Given the description of an element on the screen output the (x, y) to click on. 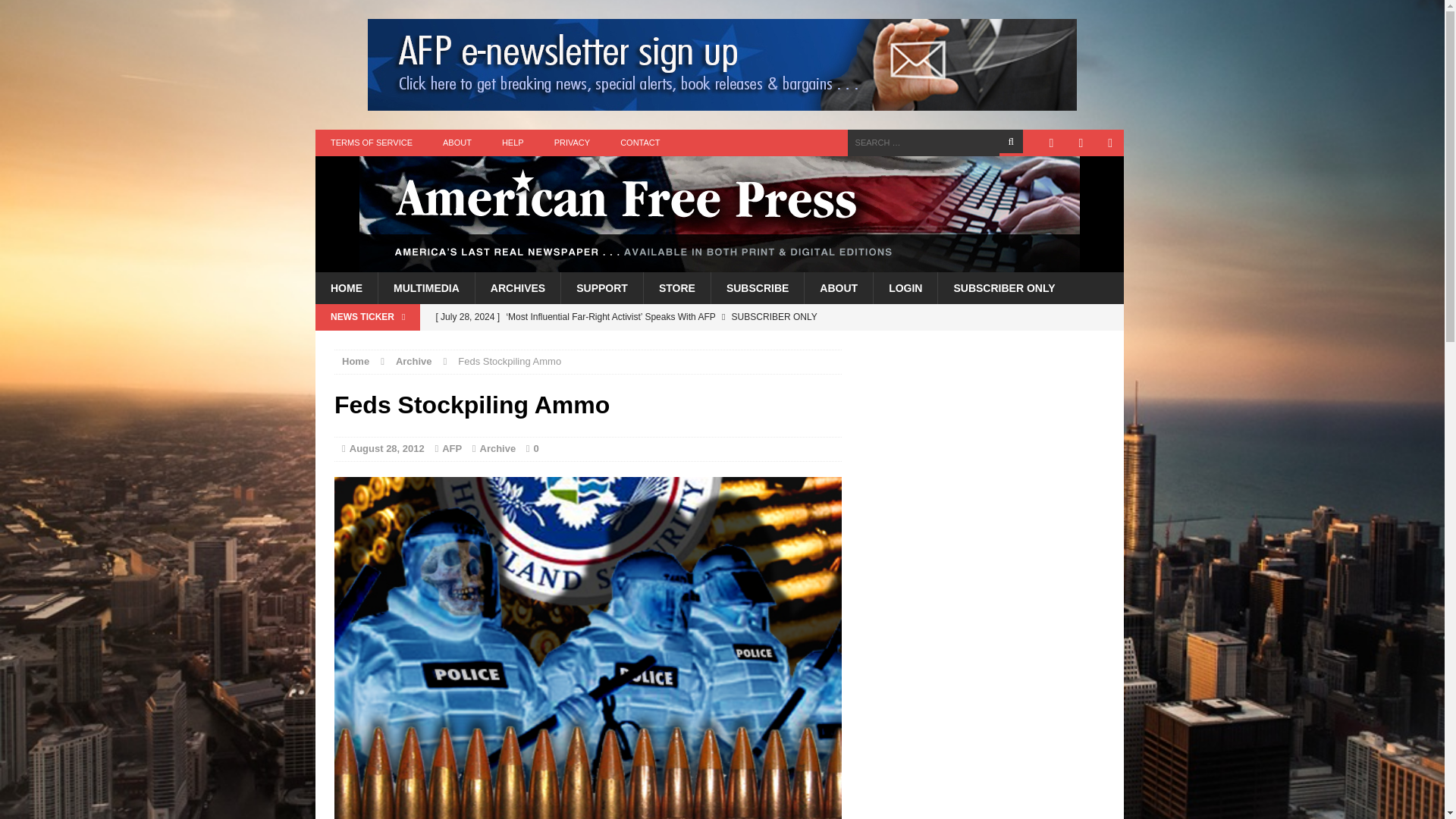
ABOUT (457, 142)
August 28, 2012 (387, 448)
CONTACT (640, 142)
SUBSCRIBE (756, 287)
Will Republicans Turn the Lawfare Tables on Dems? (633, 342)
SUBSCRIBER ONLY (1003, 287)
Archive (497, 448)
STORE (676, 287)
MULTIMEDIA (425, 287)
Home (355, 360)
